Given the description of an element on the screen output the (x, y) to click on. 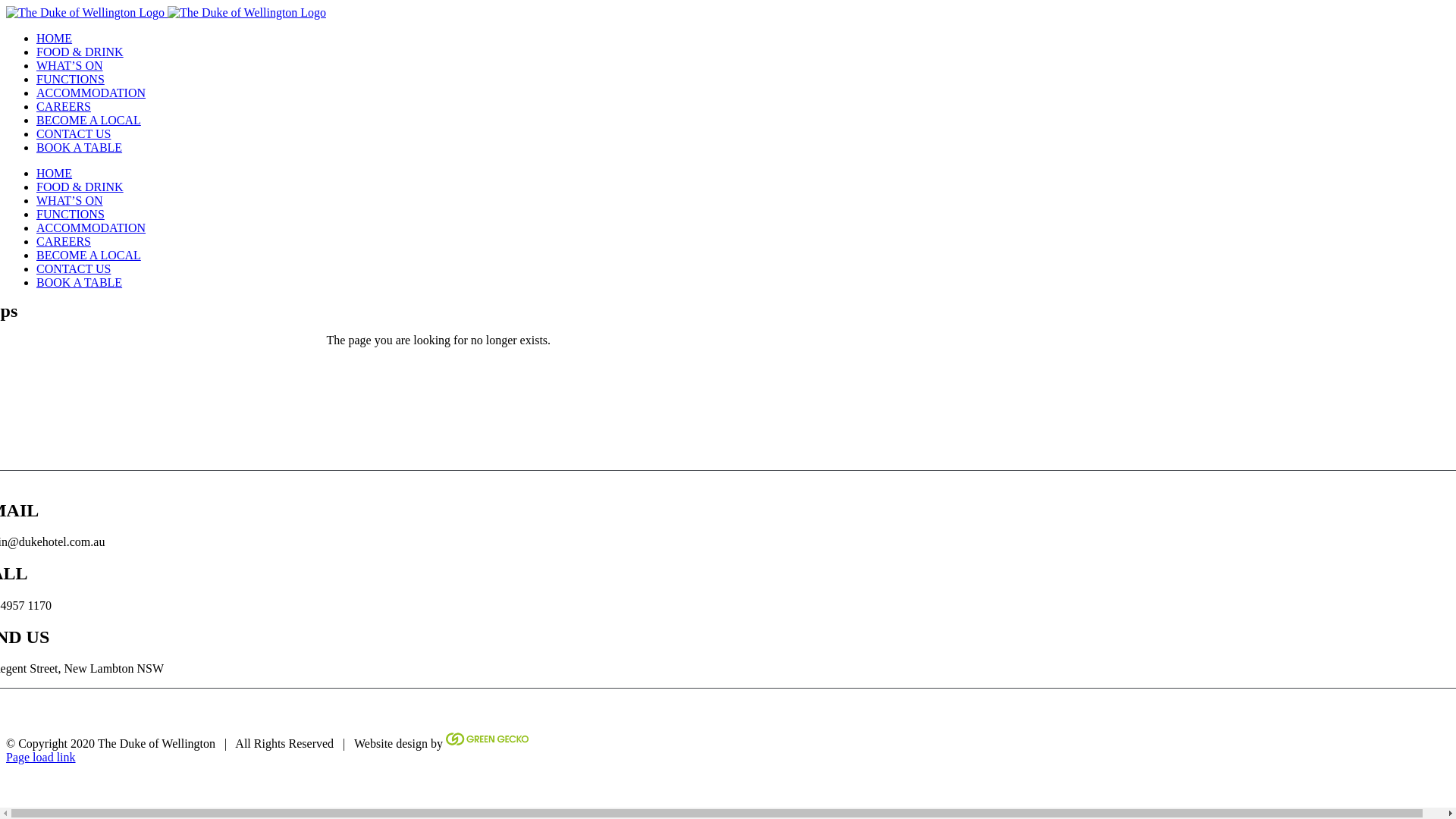
CONTACT US Element type: text (73, 133)
BECOME A LOCAL Element type: text (88, 119)
FOOD & DRINK Element type: text (79, 51)
HOME Element type: text (54, 37)
BOOK A TABLE Element type: text (79, 147)
CAREERS Element type: text (63, 106)
BECOME A LOCAL Element type: text (88, 254)
Skip to content Element type: text (5, 5)
Page load link Element type: text (40, 756)
BOOK A TABLE Element type: text (79, 282)
CONTACT US Element type: text (73, 268)
FUNCTIONS Element type: text (70, 213)
HOME Element type: text (54, 172)
ACCOMMODATION Element type: text (90, 227)
FOOD & DRINK Element type: text (79, 186)
FUNCTIONS Element type: text (70, 78)
CAREERS Element type: text (63, 241)
ACCOMMODATION Element type: text (90, 92)
